Given the description of an element on the screen output the (x, y) to click on. 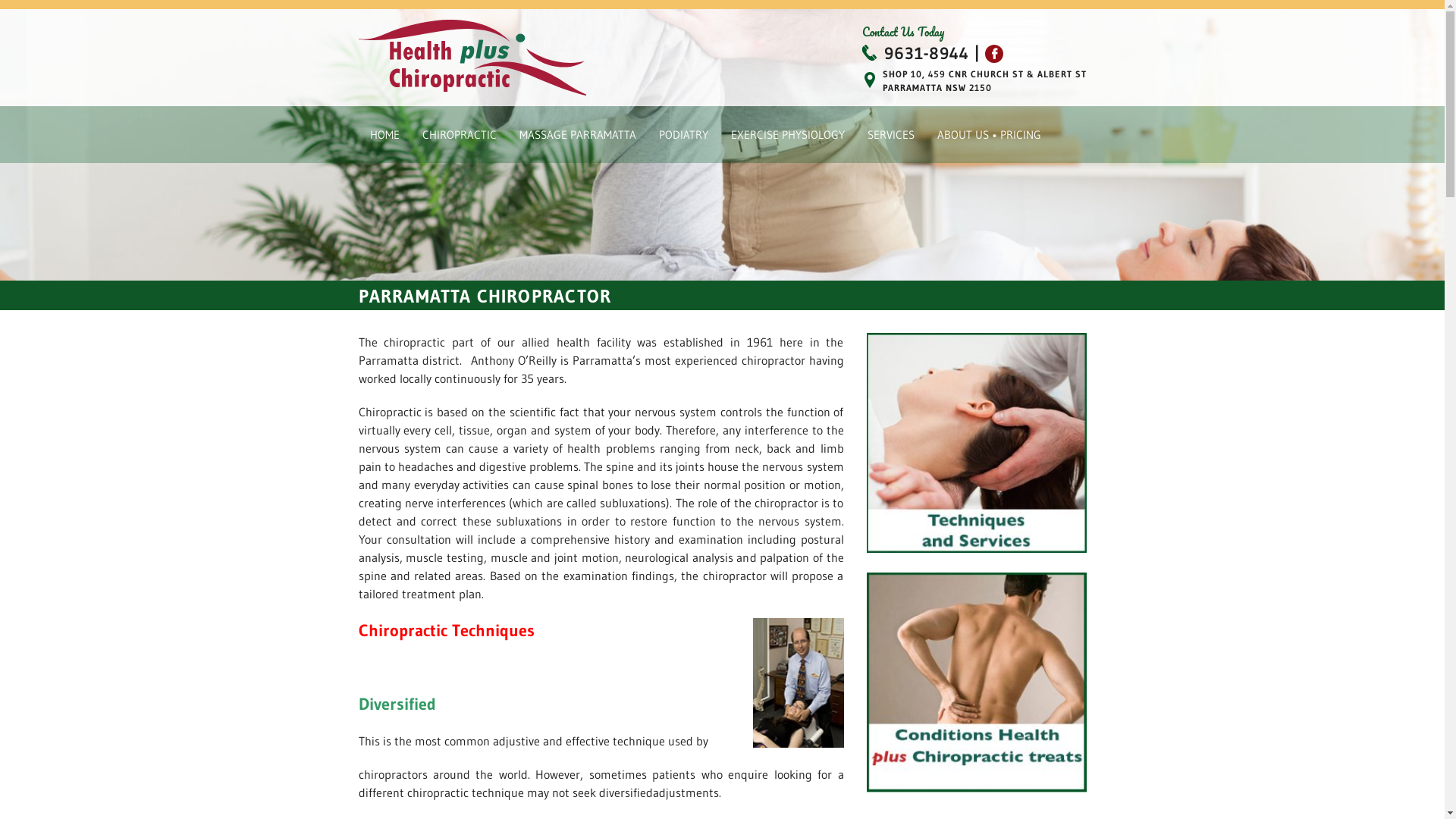
EXERCISE PHYSIOLOGY Element type: text (786, 134)
MASSAGE PARRAMATTA Element type: text (577, 134)
HOME Element type: text (383, 134)
Facebook Element type: text (994, 53)
Health Plus Chiropractic Element type: text (478, 57)
CHIROPRACTIC Element type: text (459, 134)
PODIATRY Element type: text (683, 134)
SERVICES Element type: text (890, 134)
